Given the description of an element on the screen output the (x, y) to click on. 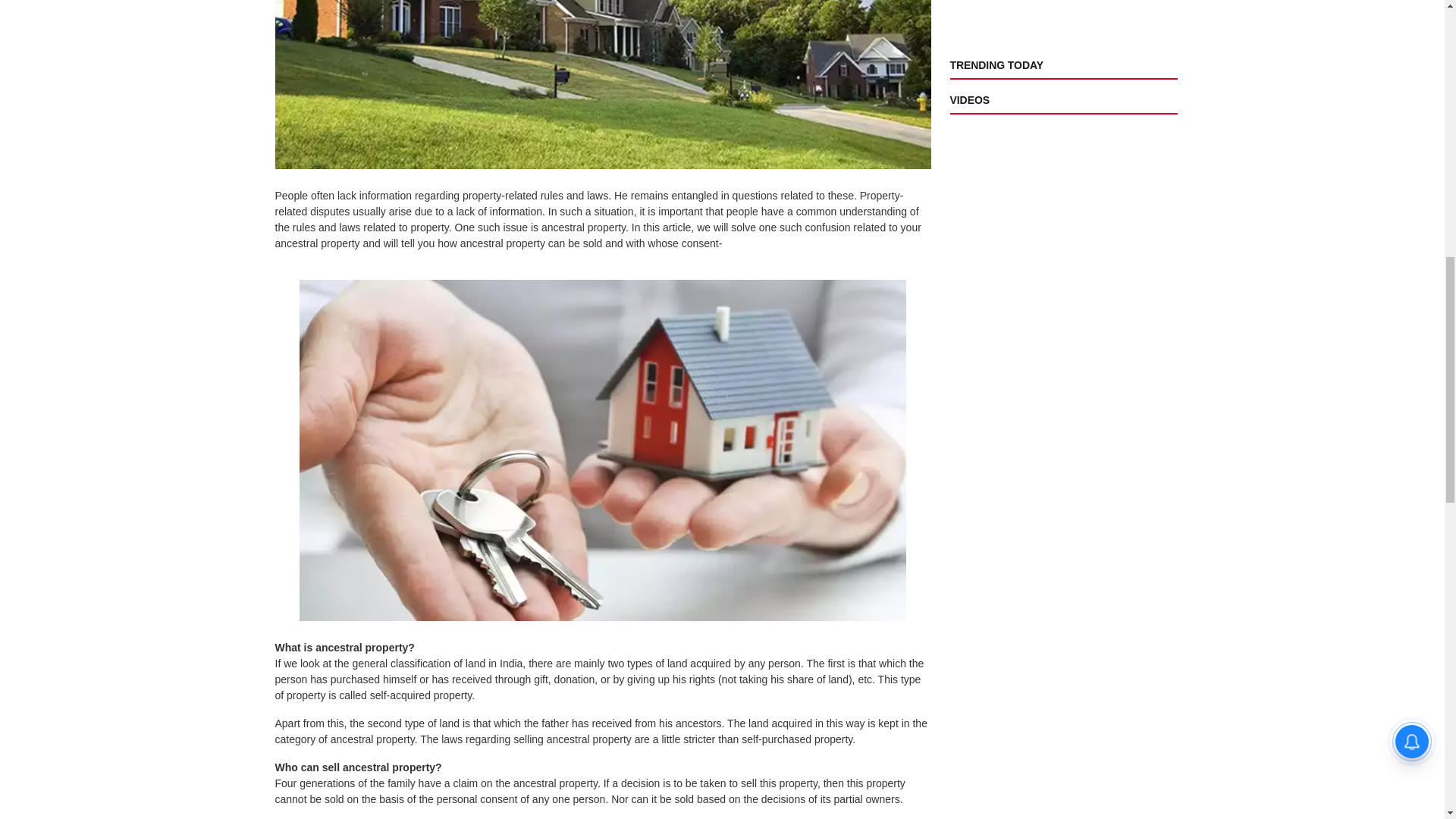
VIDEOS (968, 100)
TRENDING TODAY (995, 64)
Advertisement (1062, 22)
